Given the description of an element on the screen output the (x, y) to click on. 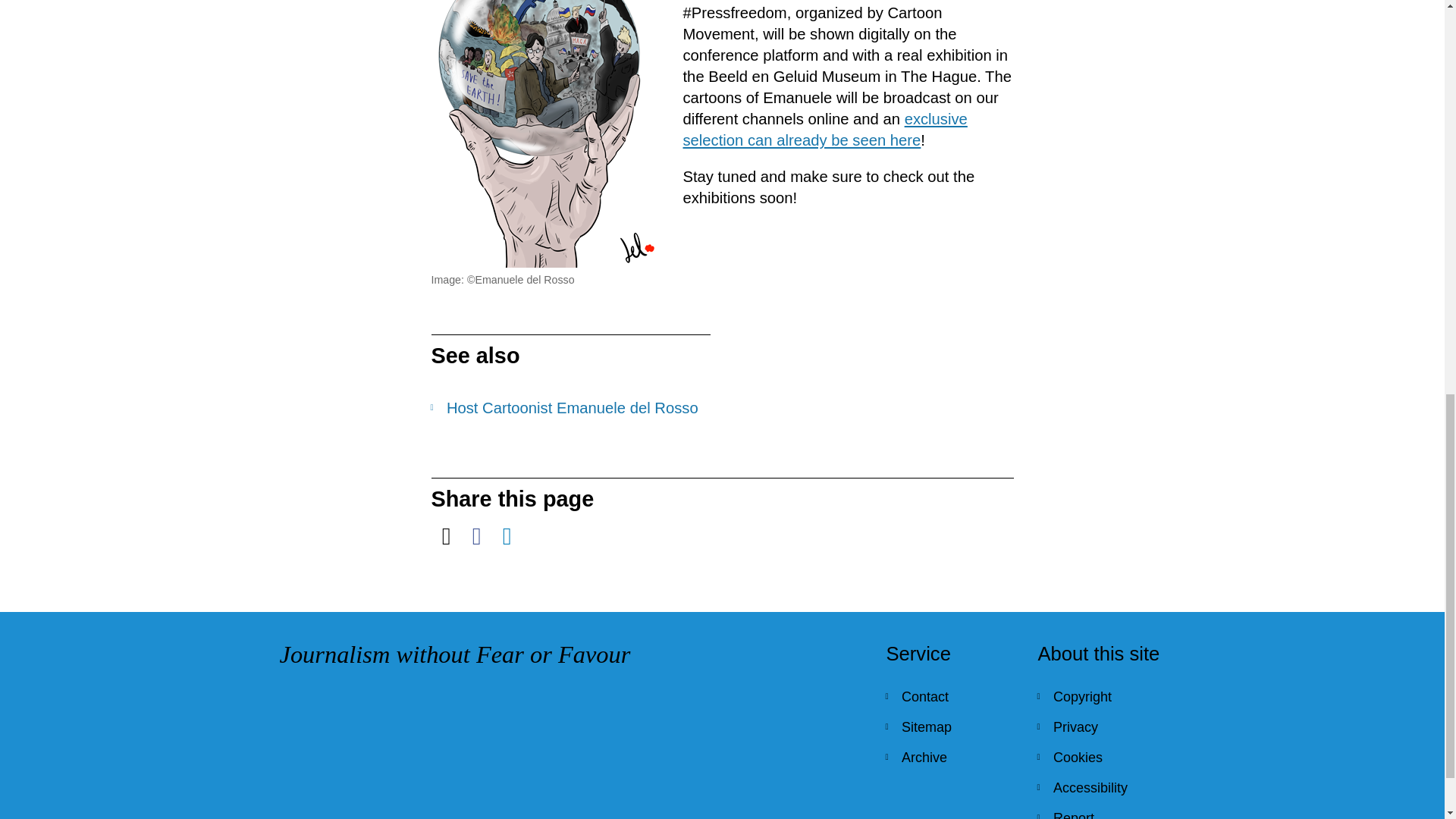
Host Cartoonist Emanuele del Rosso (570, 407)
Share this page on your Facebook account (476, 535)
Share this page on your Twitter account (445, 535)
Report vulnerability (1100, 811)
Sitemap (949, 726)
Archive (949, 757)
Privacy (1100, 726)
Cookies (1100, 757)
Accessibility (1100, 788)
exclusive selection can already be seen here (824, 129)
